Given the description of an element on the screen output the (x, y) to click on. 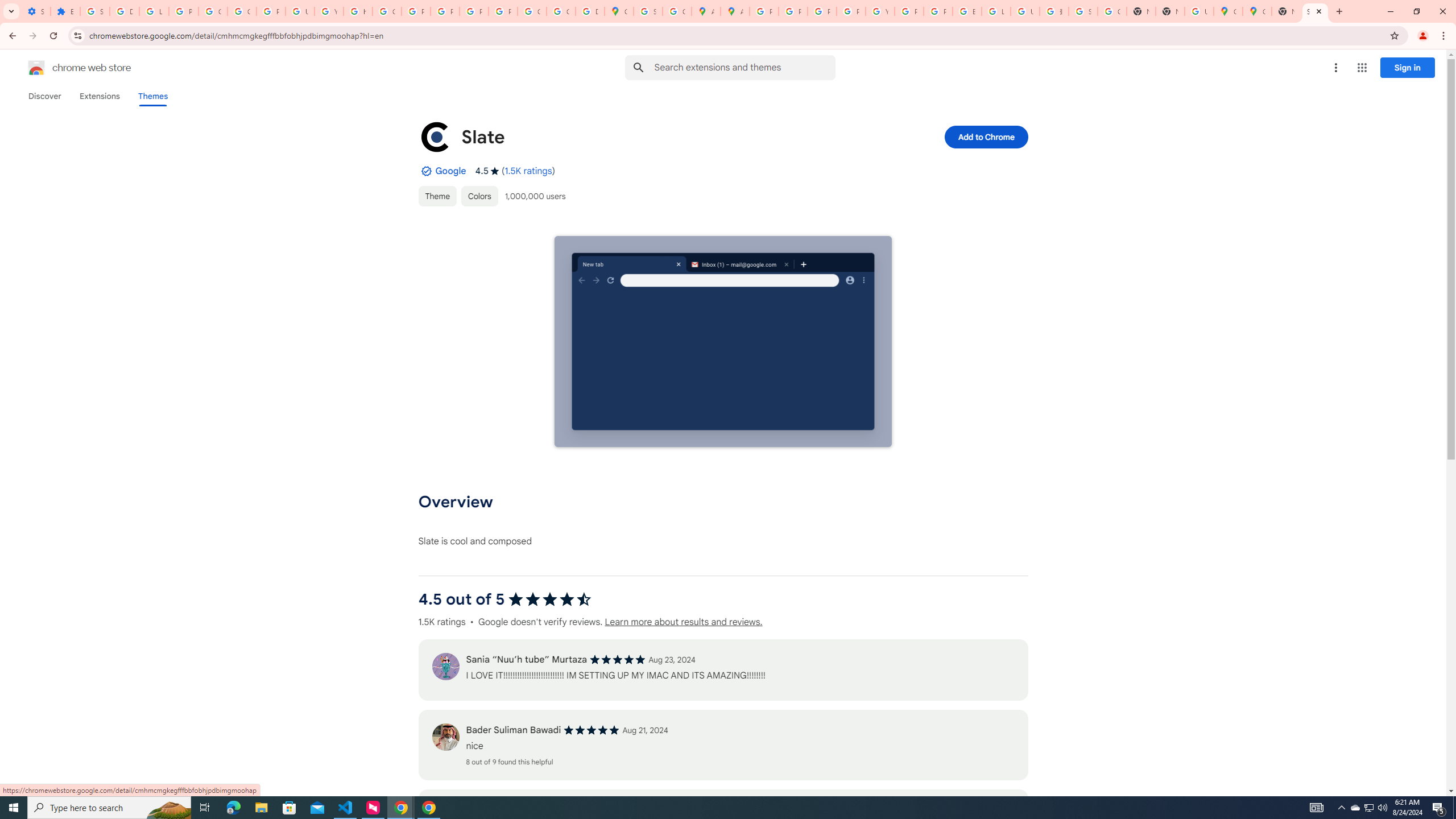
Theme (437, 195)
Privacy Help Center - Policies Help (792, 11)
More options menu (1335, 67)
Chrome Web Store logo chrome web store (67, 67)
YouTube (879, 11)
Delete photos & videos - Computer - Google Photos Help (124, 11)
